Given the description of an element on the screen output the (x, y) to click on. 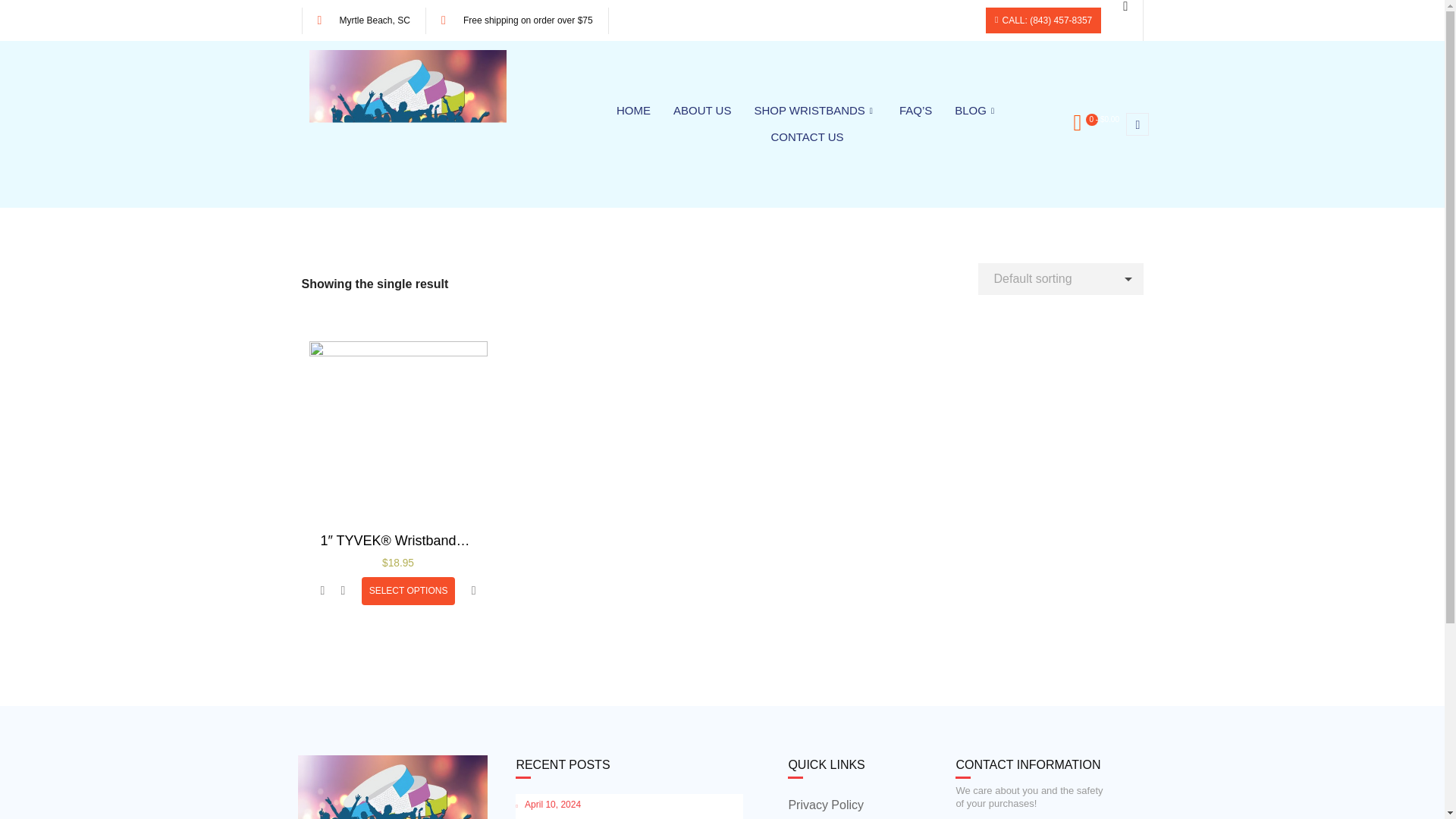
HOME (633, 110)
SHOP WRISTBANDS (814, 110)
CONTACT US (806, 137)
BLOG (976, 110)
ABOUT US (702, 110)
